Given the description of an element on the screen output the (x, y) to click on. 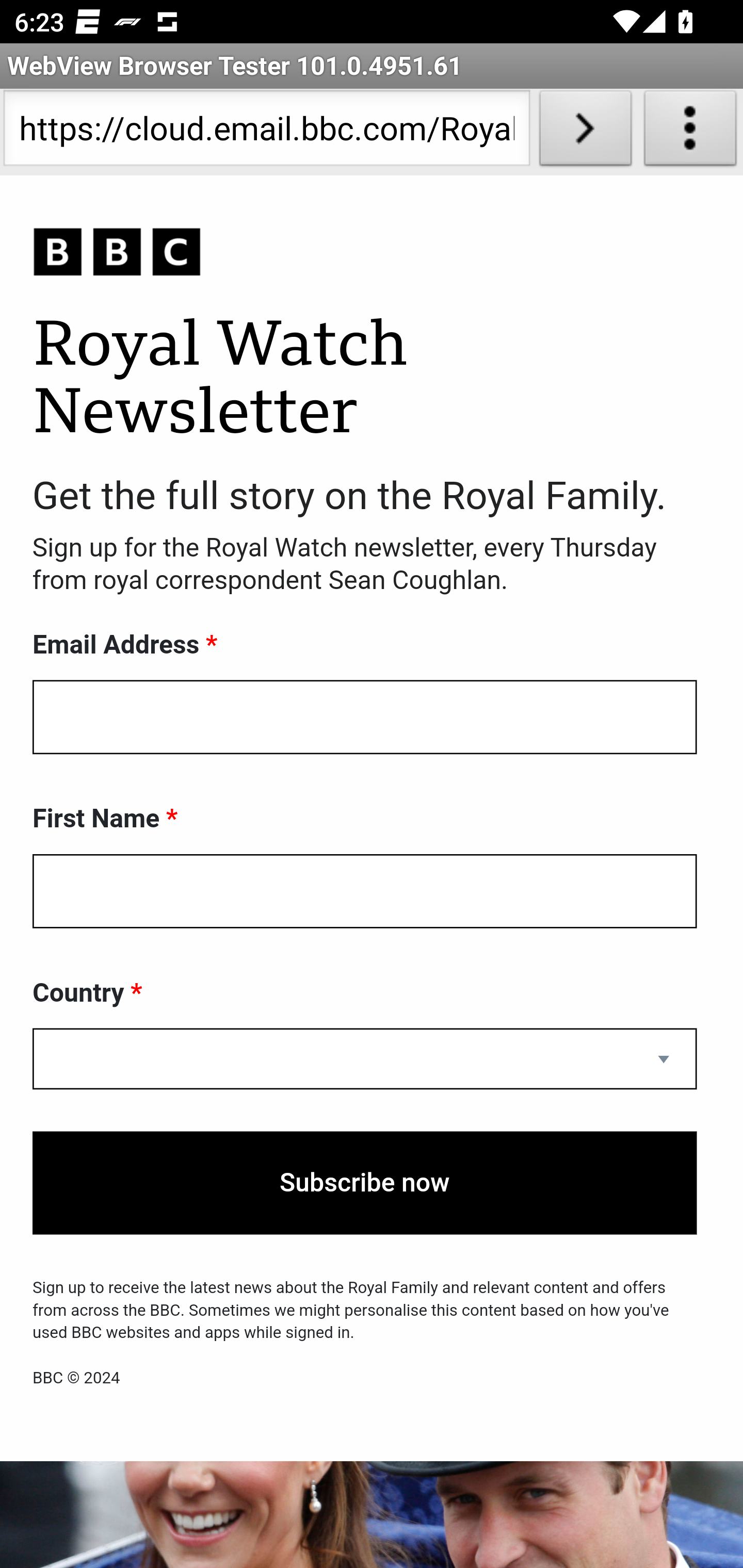
Load URL (585, 132)
About WebView (690, 132)
BBC (364, 253)
Subscribe now (364, 1182)
